Given the description of an element on the screen output the (x, y) to click on. 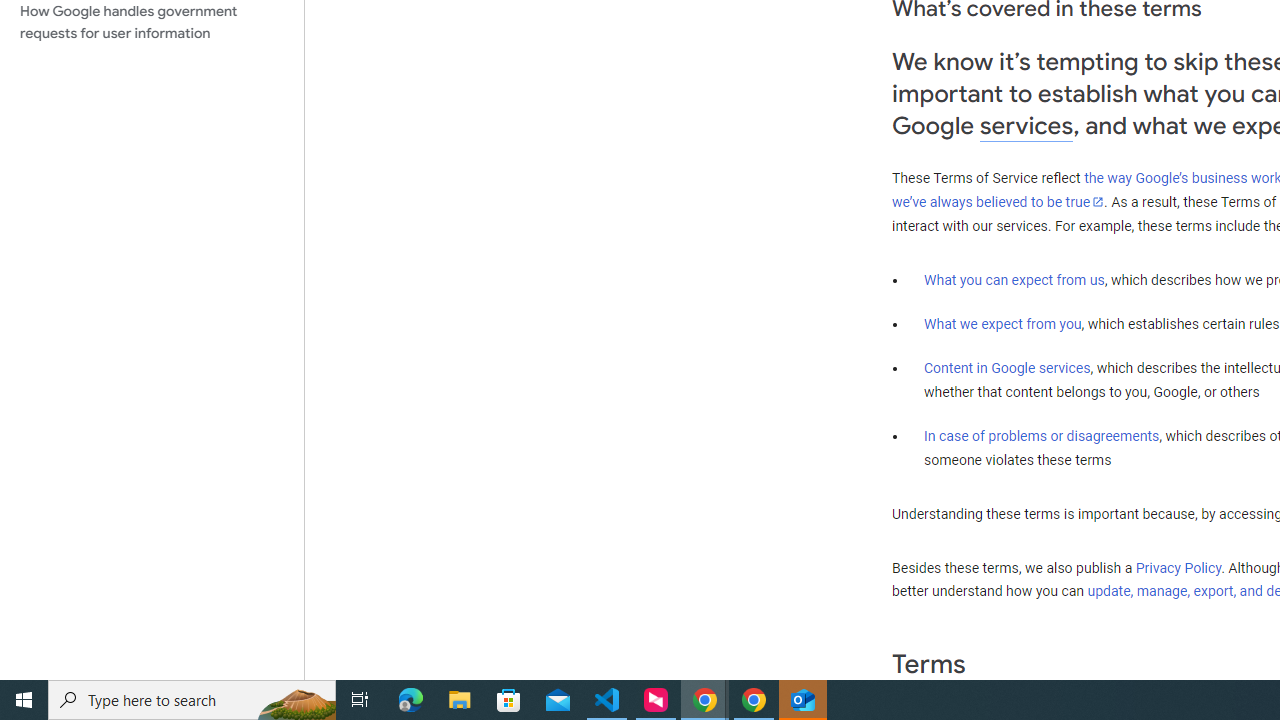
Privacy Policy (1178, 567)
In case of problems or disagreements (1041, 435)
services (1026, 125)
What you can expect from us (1014, 279)
Content in Google services (1007, 368)
What we expect from you (1002, 323)
